Given the description of an element on the screen output the (x, y) to click on. 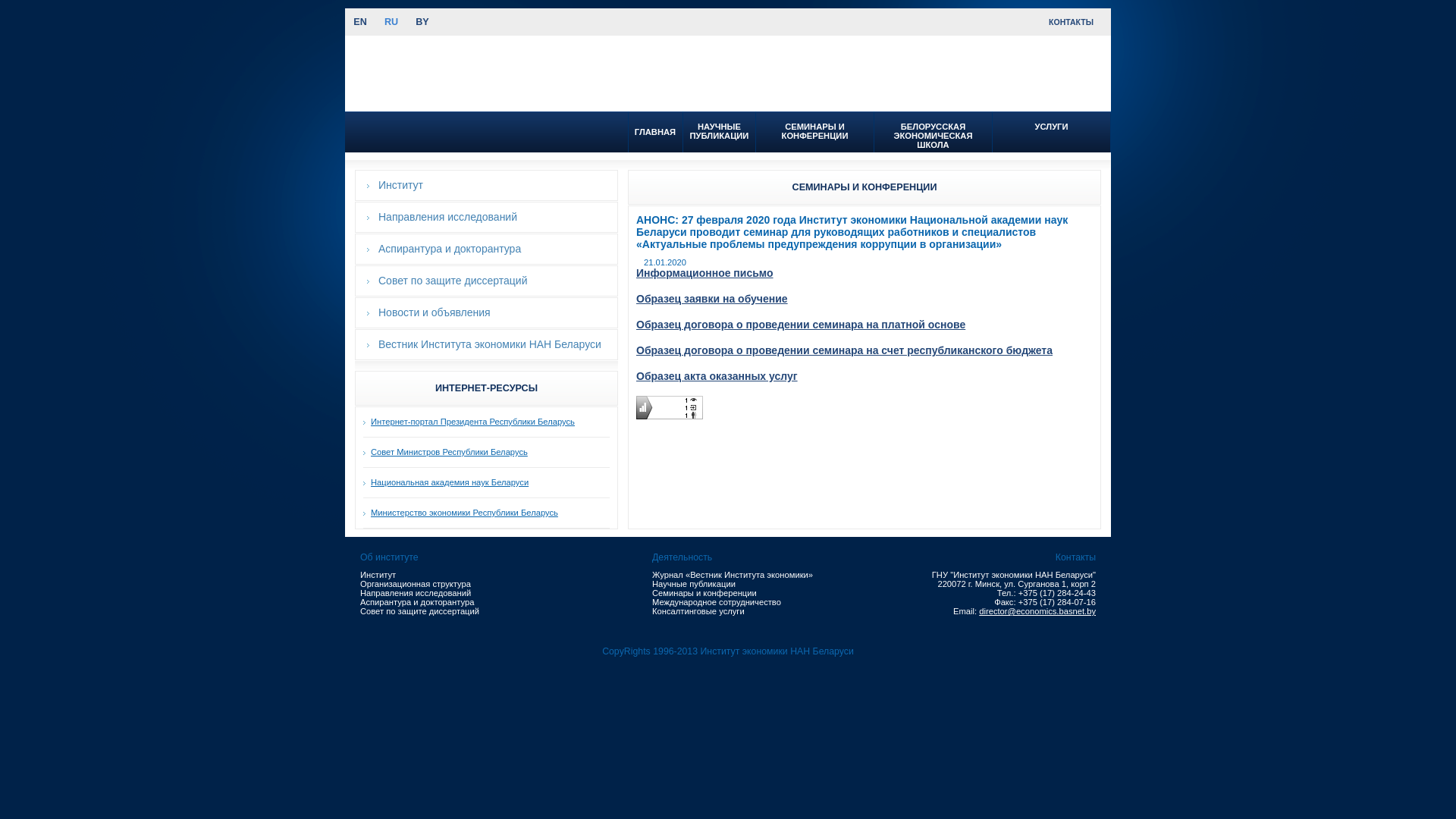
director@economics.basnet.by Element type: text (1037, 610)
